Given the description of an element on the screen output the (x, y) to click on. 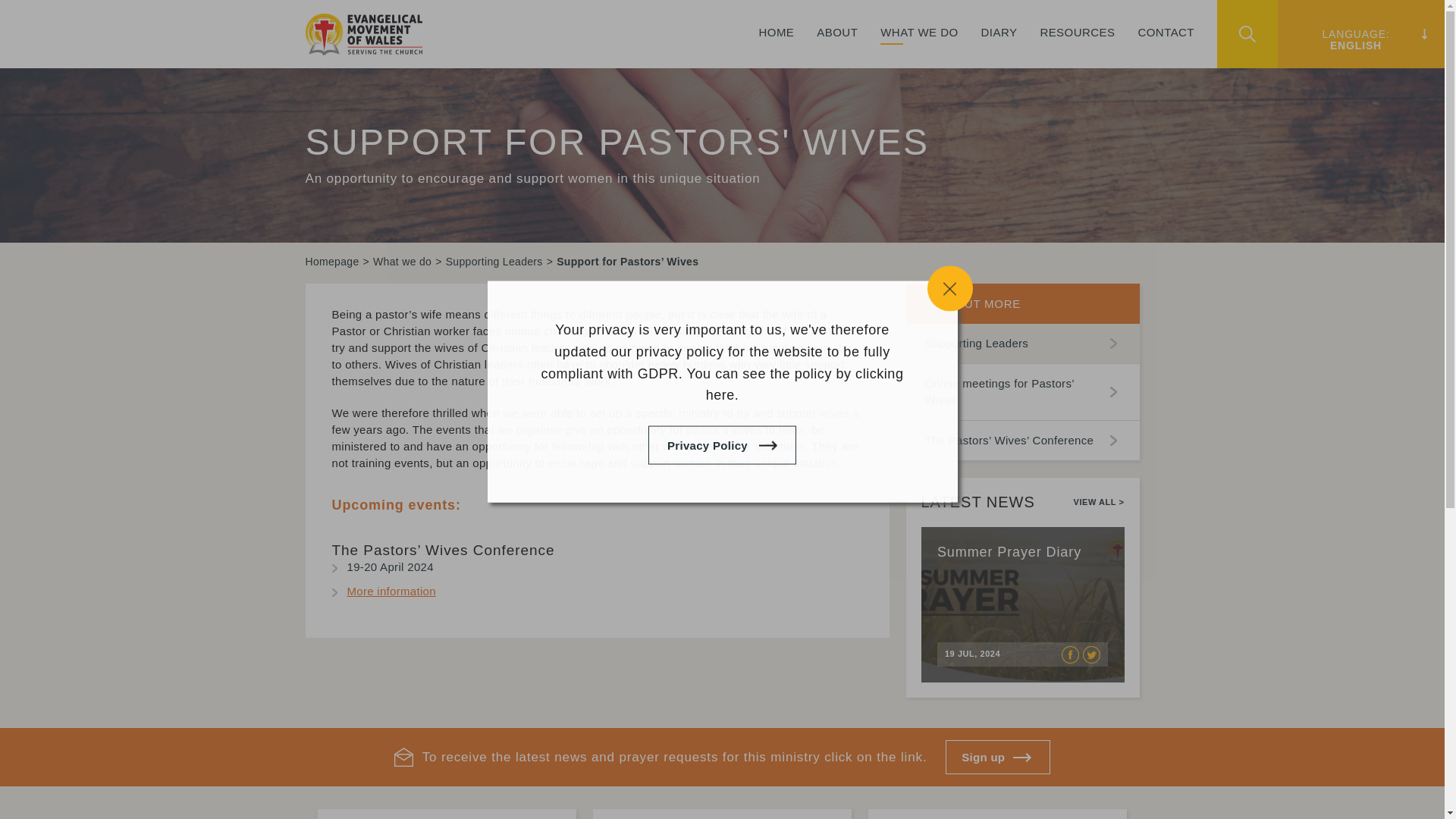
Supporting Leaders (494, 261)
More information (391, 590)
Homepage (331, 261)
What we do (401, 261)
Supporting Leaders (494, 261)
Privacy Policy (721, 445)
Supporting Leaders (1021, 343)
RESOURCES (1077, 46)
What we do (401, 261)
CONTACT (1165, 46)
ABOUT (836, 46)
Homepage (331, 261)
WHAT WE DO (919, 46)
